Given the description of an element on the screen output the (x, y) to click on. 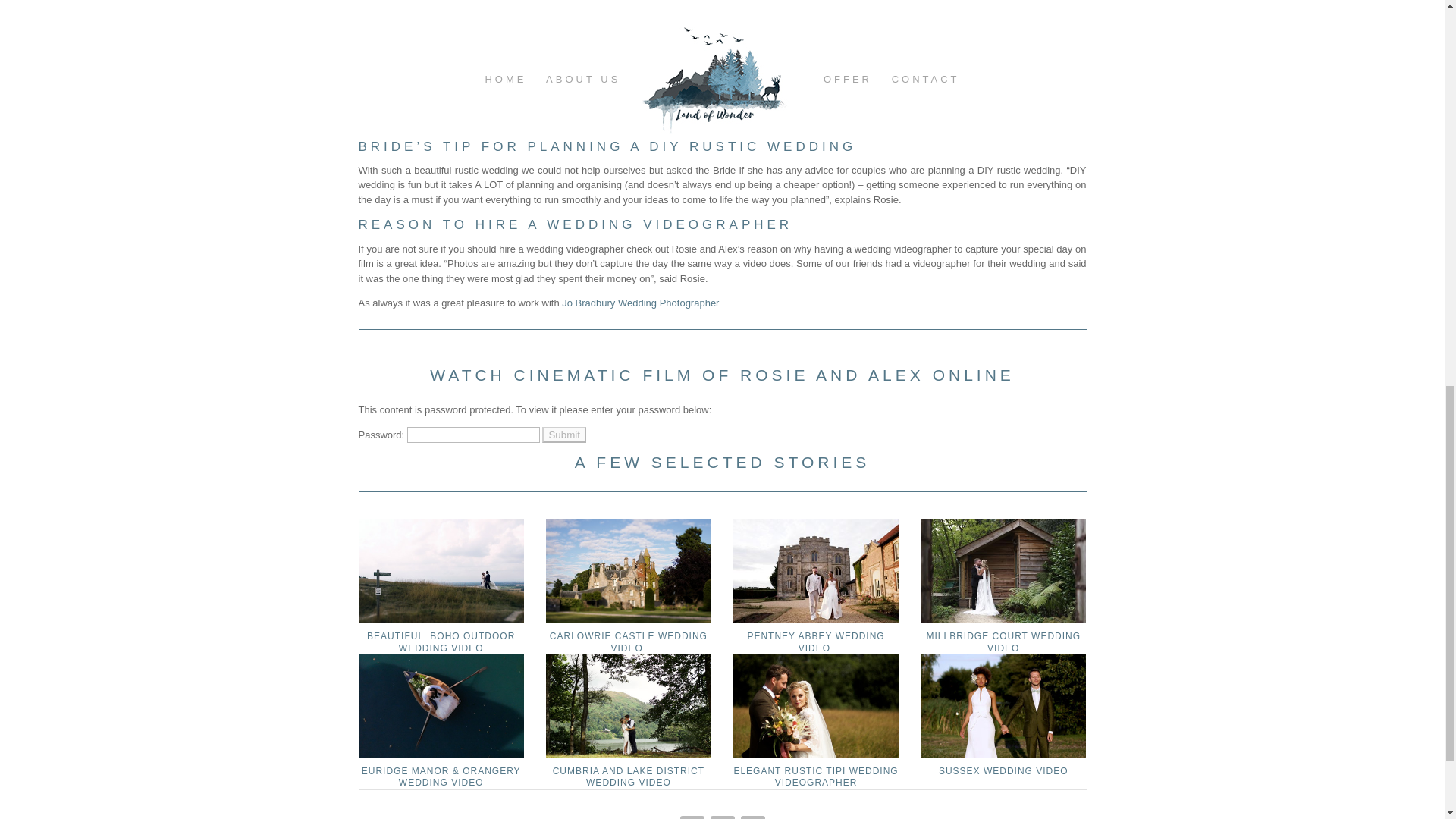
CUMBRIA AND LAKE DISTRICT WEDDING VIDEO (628, 776)
CUMBRIA AND LAKE DISTRICT WEDDING VIDEO (628, 776)
CUMBRIA AND LAKE DISTRICT WEDDING VIDEO (628, 705)
SUSSEX WEDDING VIDEO (1003, 770)
Submit (563, 434)
CARLOWRIE CASTLE WEDDING VIDEO  (628, 641)
Submit (563, 434)
ELEGANT RUSTIC TIPI WEDDING VIDEOGRAPHER (815, 776)
Jo Bradbury Wedding Photographer (640, 302)
MILLBRIDGE COURT WEDDING VIDEO (1003, 641)
BEAUTIFUL  BOHO OUTDOOR WEDDING VIDEO (440, 641)
ELEGANT RUSTIC TIPI WEDDING VIDEOGRAPHER (815, 705)
